Given the description of an element on the screen output the (x, y) to click on. 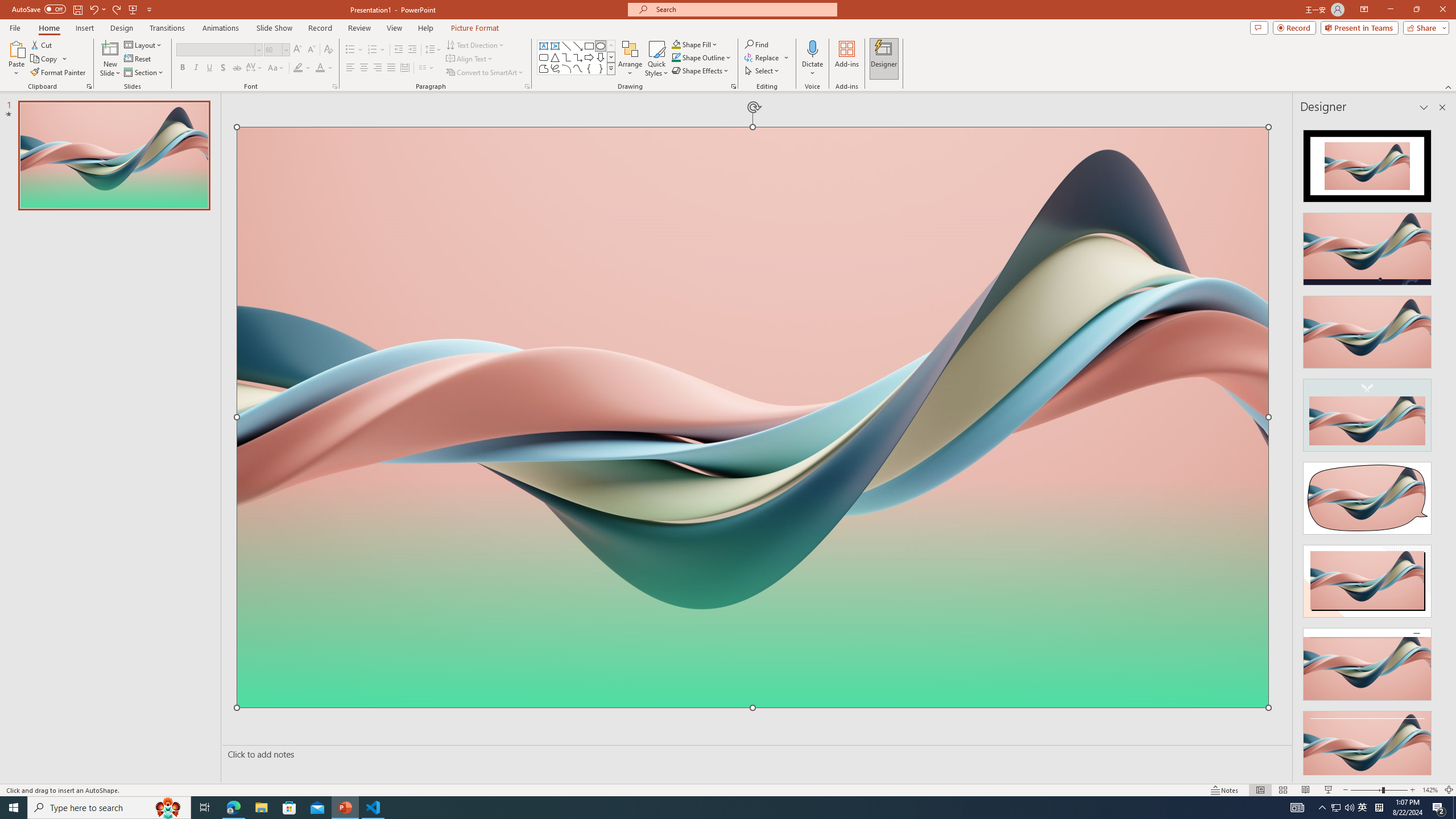
Class: NetUIScrollBar (1441, 447)
